Given the description of an element on the screen output the (x, y) to click on. 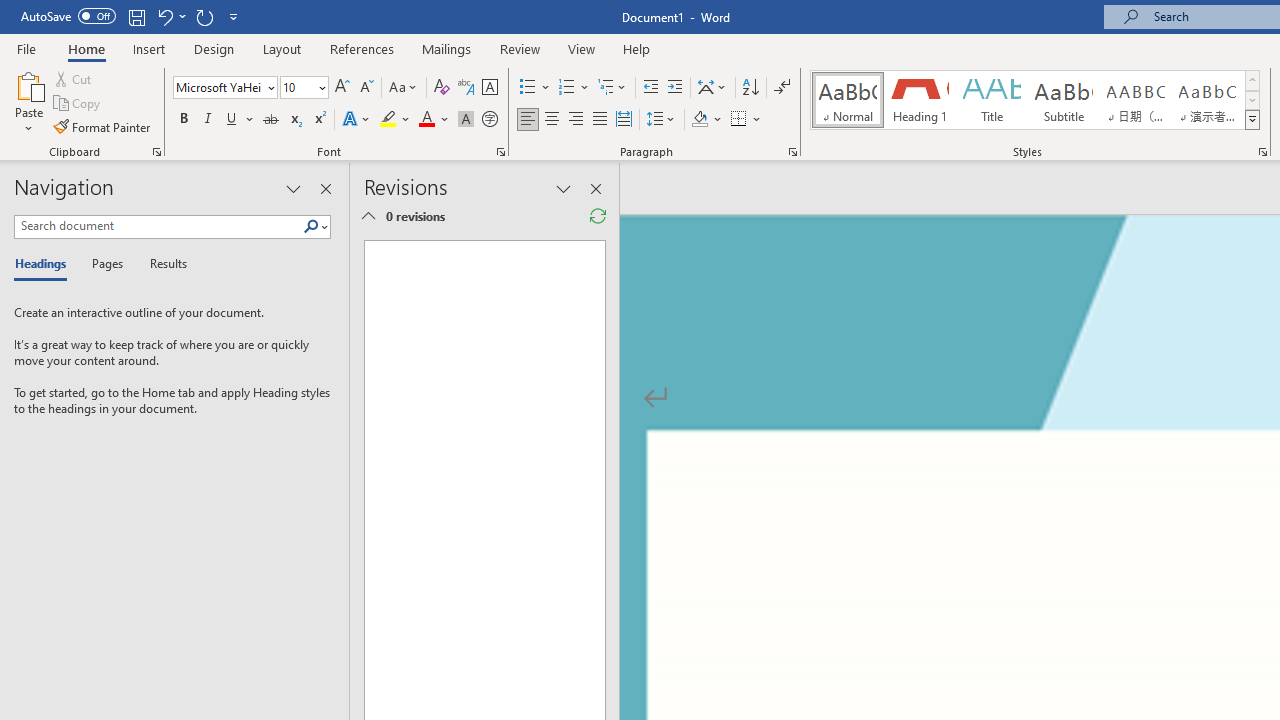
Refresh Reviewing Pane (597, 215)
Title (991, 100)
